Given the description of an element on the screen output the (x, y) to click on. 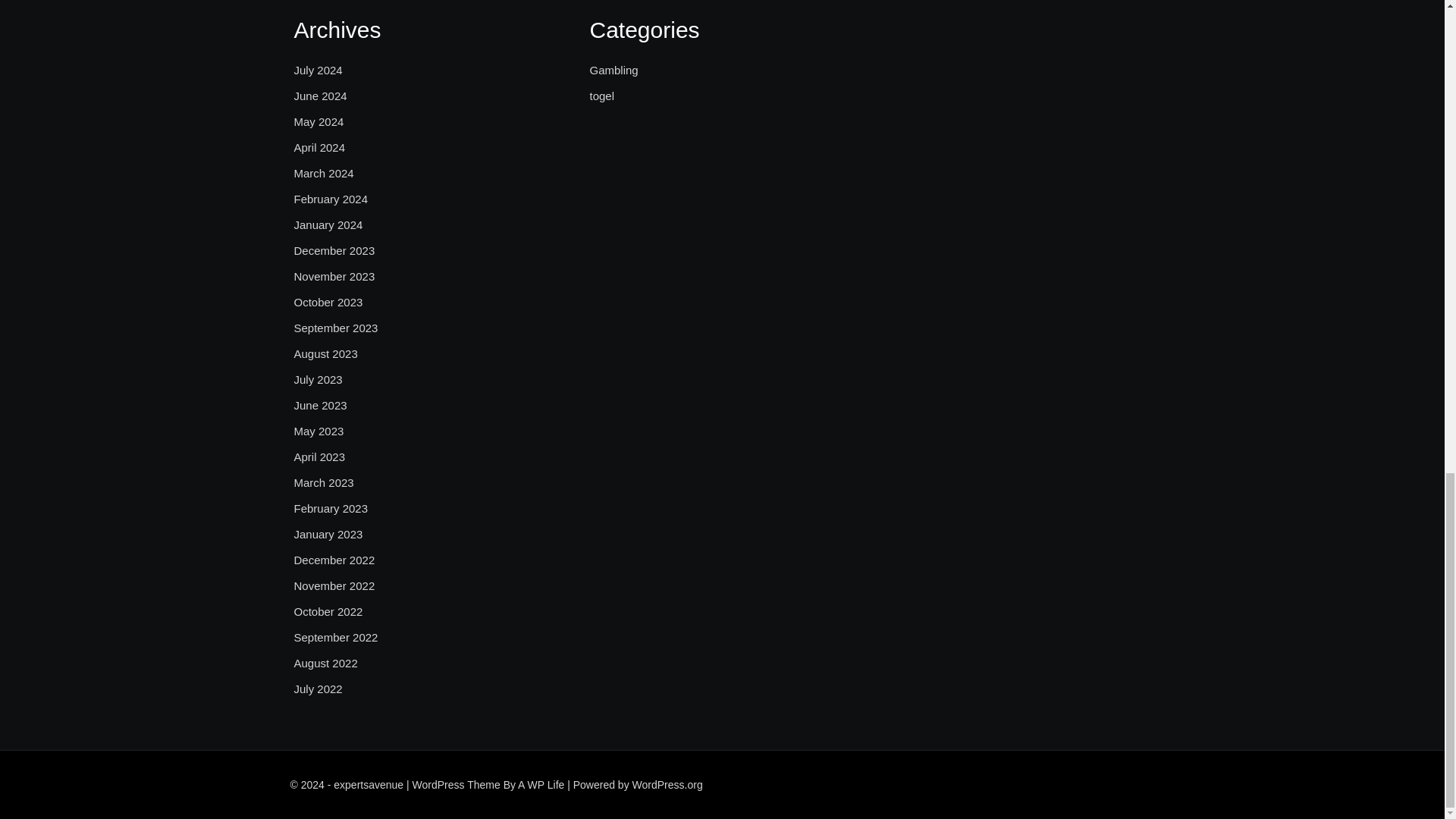
April 2023 (320, 456)
December 2022 (334, 560)
January 2024 (328, 225)
June 2023 (320, 405)
October 2023 (328, 302)
February 2024 (331, 199)
September 2022 (336, 637)
July 2023 (318, 380)
November 2022 (334, 586)
October 2022 (328, 611)
July 2024 (318, 70)
March 2024 (323, 173)
September 2023 (336, 328)
August 2023 (326, 353)
June 2024 (320, 95)
